Given the description of an element on the screen output the (x, y) to click on. 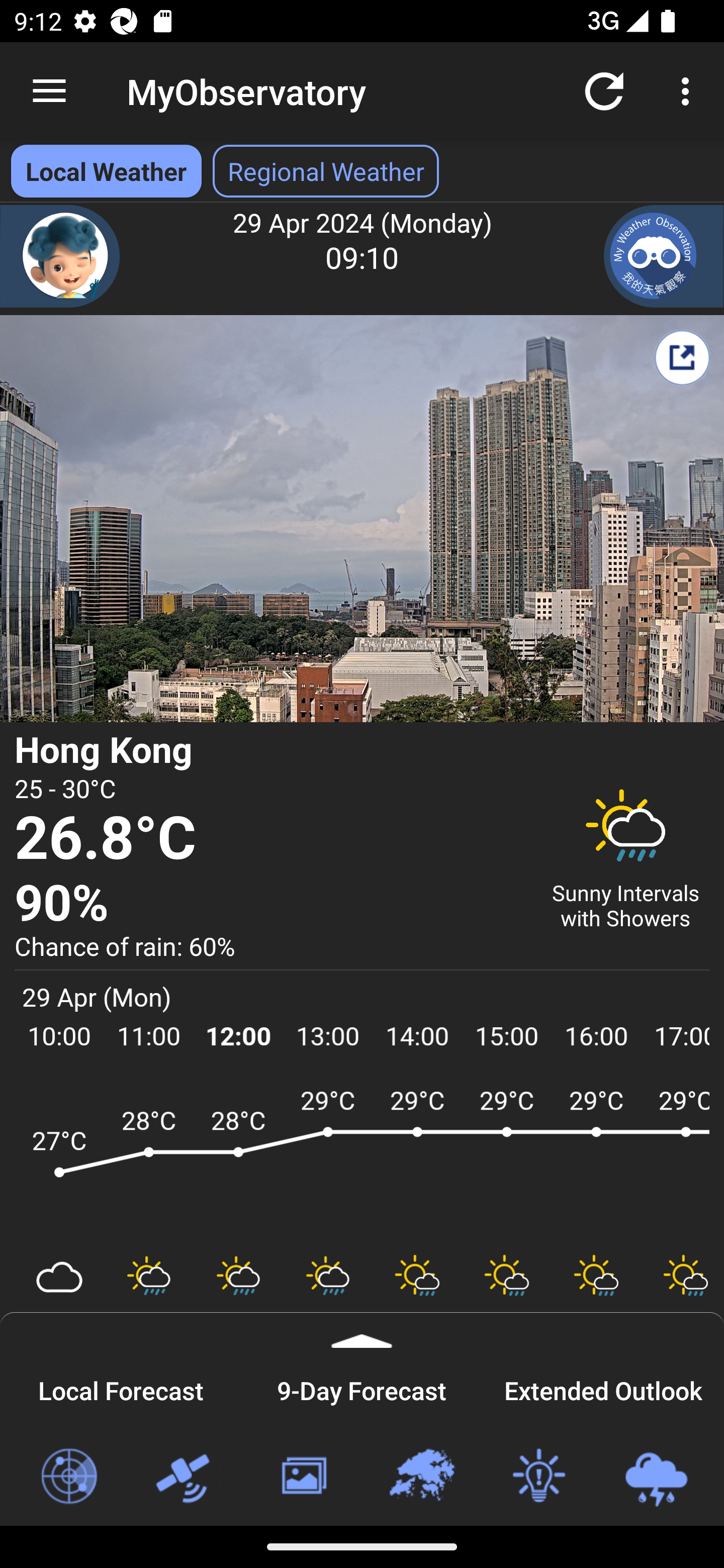
Navigate up (49, 91)
Refresh (604, 90)
More options (688, 90)
Local Weather Local Weather selected (105, 170)
Regional Weather Select Regional Weather (325, 170)
Chatbot (60, 256)
My Weather Observation (663, 256)
Share My Weather Report (681, 357)
26.8°C Temperature
26.8 degree Celsius (270, 839)
90% Relative Humidity
90 percent (270, 903)
ARWF (361, 1160)
Expand (362, 1330)
Local Forecast (120, 1387)
Extended Outlook (603, 1387)
Radar Images (68, 1476)
Satellite Images (185, 1476)
Weather Photos (302, 1476)
Regional Weather (420, 1476)
Weather Tips (537, 1476)
Loc-based Rain & Lightning Forecast (655, 1476)
